Given the description of an element on the screen output the (x, y) to click on. 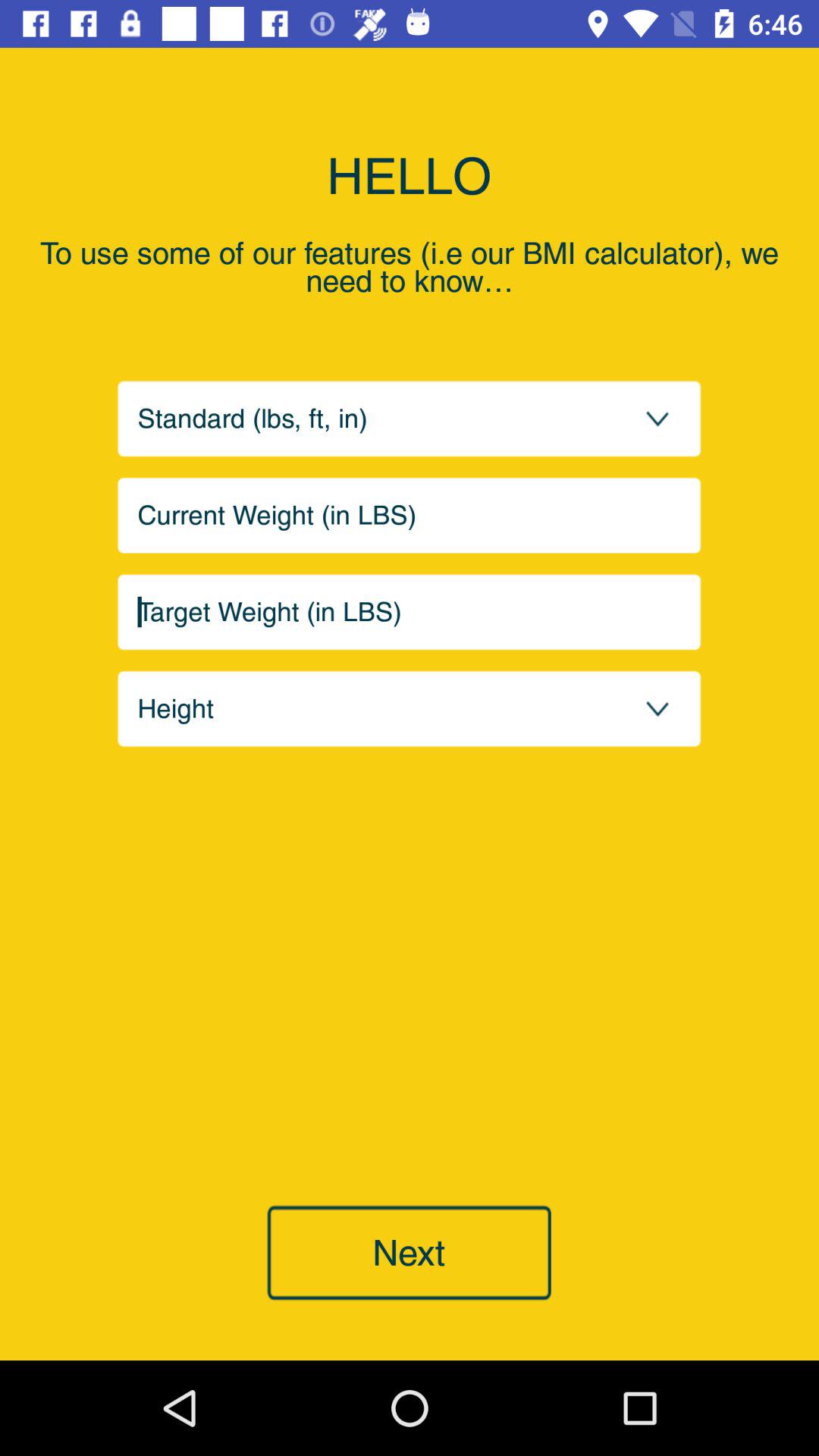
enter target weight detail (409, 611)
